Given the description of an element on the screen output the (x, y) to click on. 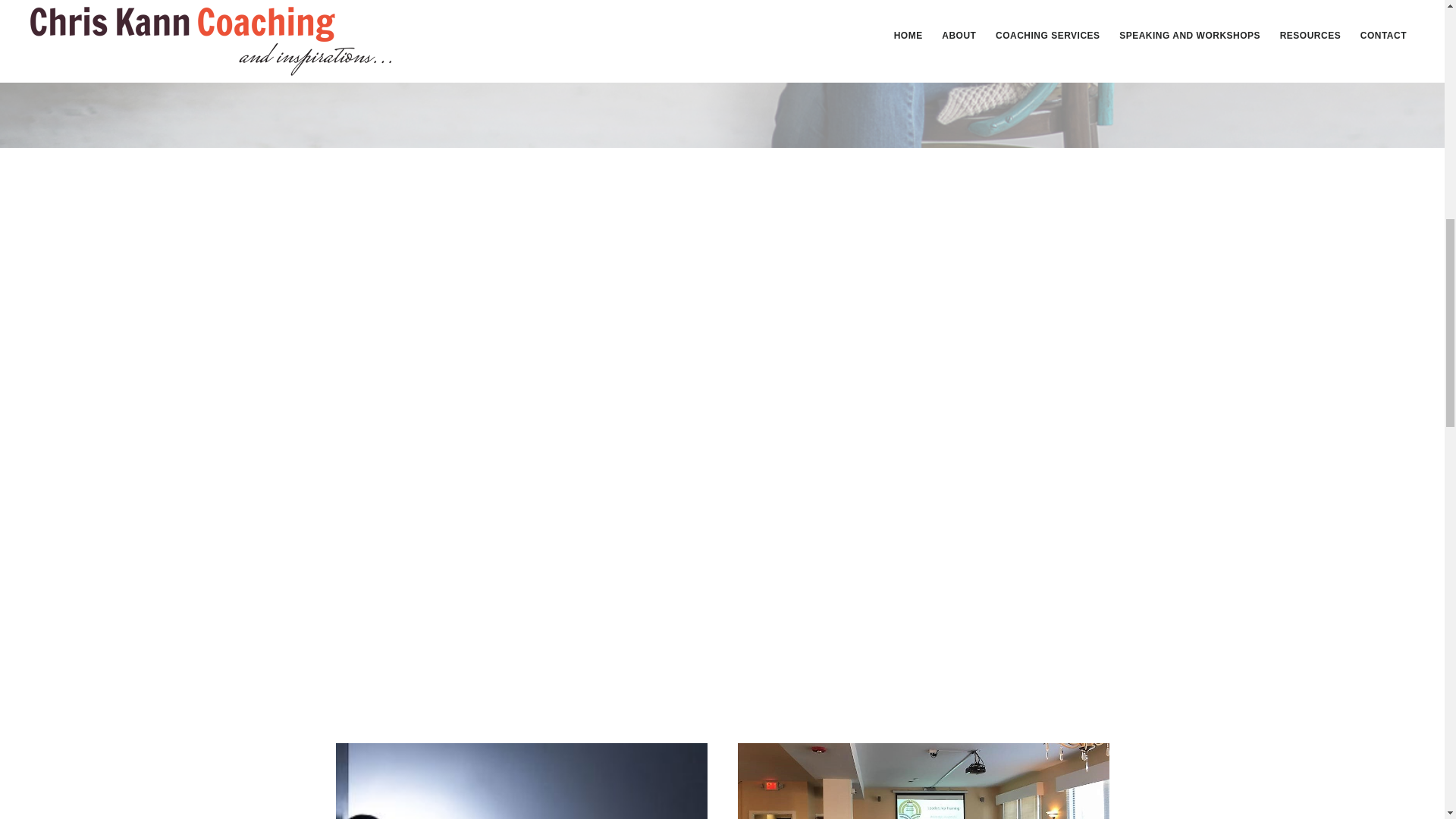
CSKAtVGRLeadershipTraining042418EditedandCropped (922, 780)
